Given the description of an element on the screen output the (x, y) to click on. 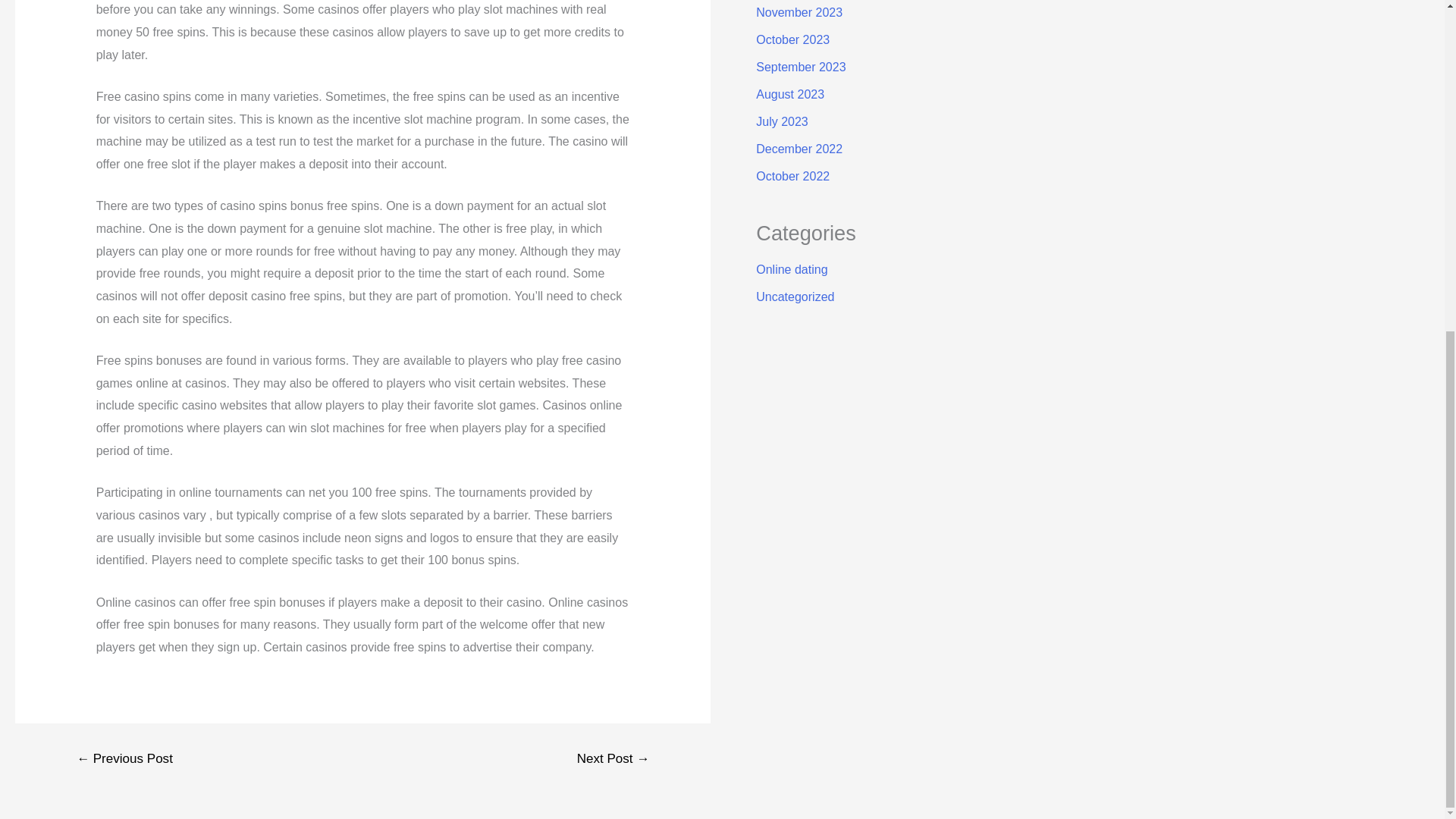
October 2022 (792, 175)
September 2023 (800, 66)
August 2023 (789, 93)
November 2023 (799, 11)
October 2023 (792, 39)
December 2022 (799, 148)
July 2023 (781, 121)
